Given the description of an element on the screen output the (x, y) to click on. 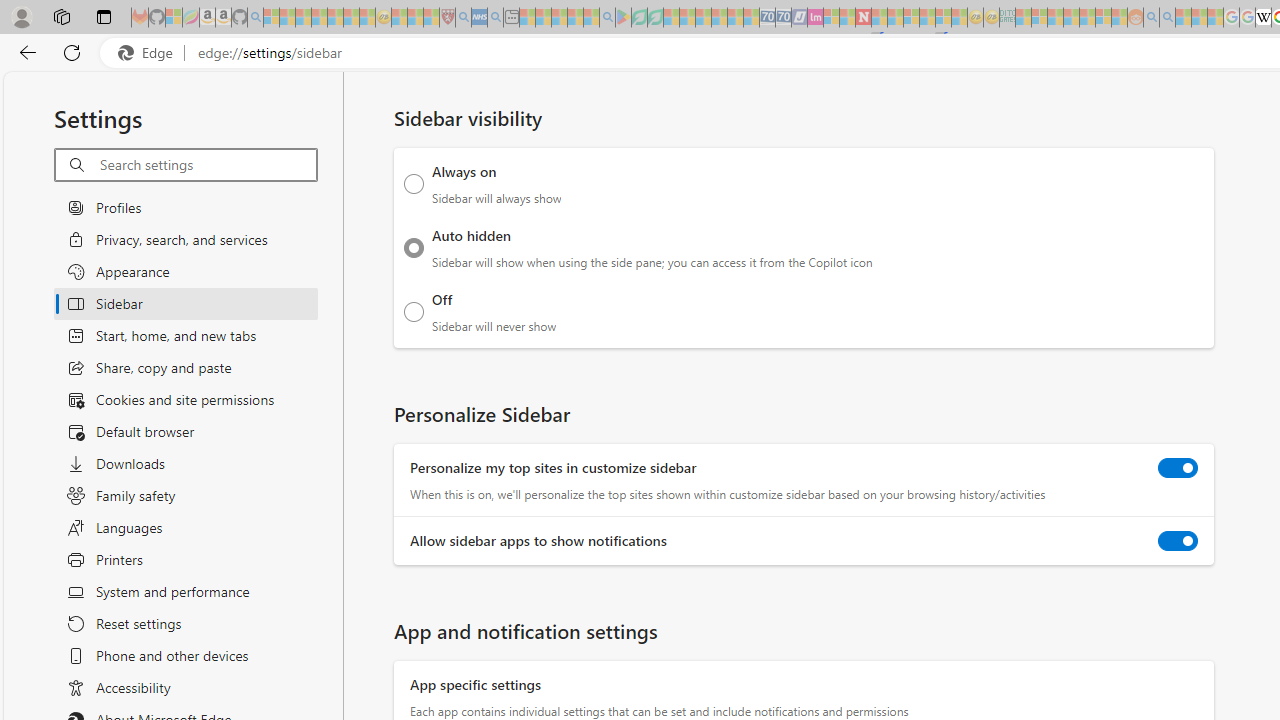
Target page - Wikipedia (1263, 17)
Off Sidebar will never show (413, 311)
Always on Sidebar will always show (413, 183)
